Given the description of an element on the screen output the (x, y) to click on. 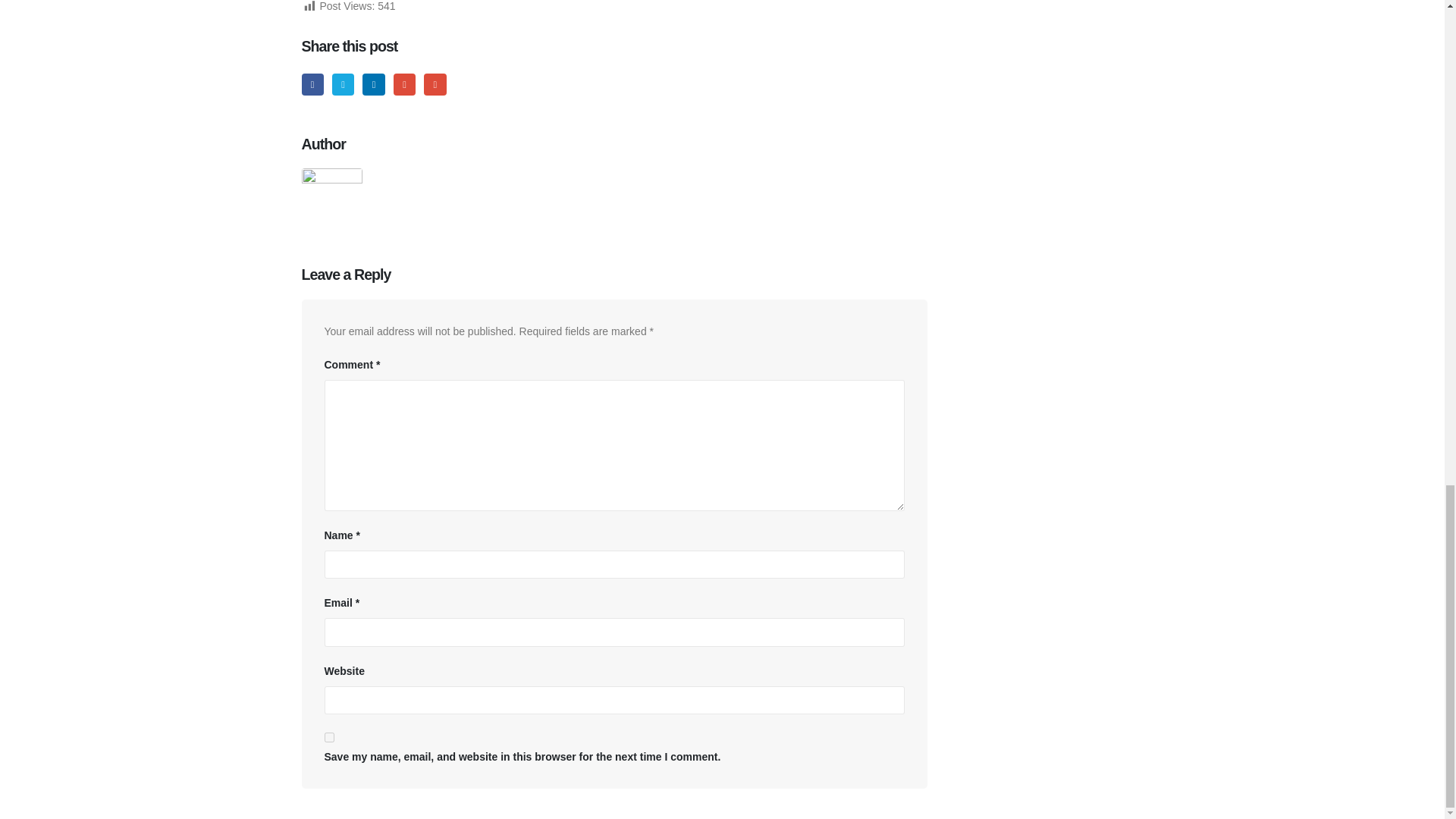
Email (434, 84)
Twitter (342, 84)
LinkedIn (373, 84)
LinkedIn (373, 84)
Facebook (312, 84)
Twitter (342, 84)
Facebook (312, 84)
Email (434, 84)
yes (329, 737)
